Given the description of an element on the screen output the (x, y) to click on. 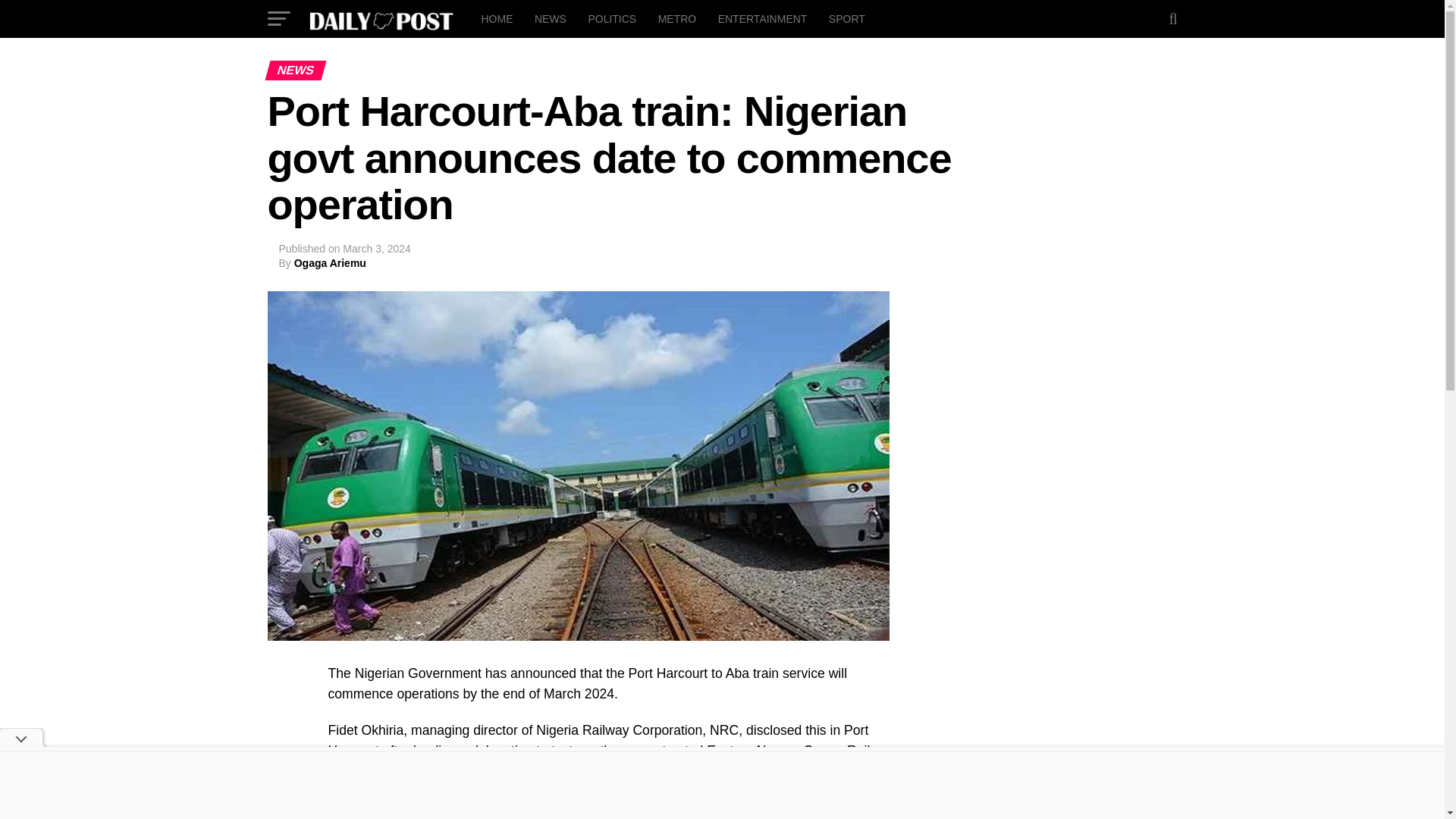
METRO (677, 18)
Ogaga Ariemu (330, 263)
3rd party ad content (1055, 540)
Posts by Ogaga Ariemu (330, 263)
3rd party ad content (721, 785)
ENTERTAINMENT (762, 18)
3rd party ad content (1055, 391)
POLITICS (611, 18)
3rd party ad content (1055, 688)
SPORT (847, 18)
HOME (496, 18)
NEWS (550, 18)
